Given the description of an element on the screen output the (x, y) to click on. 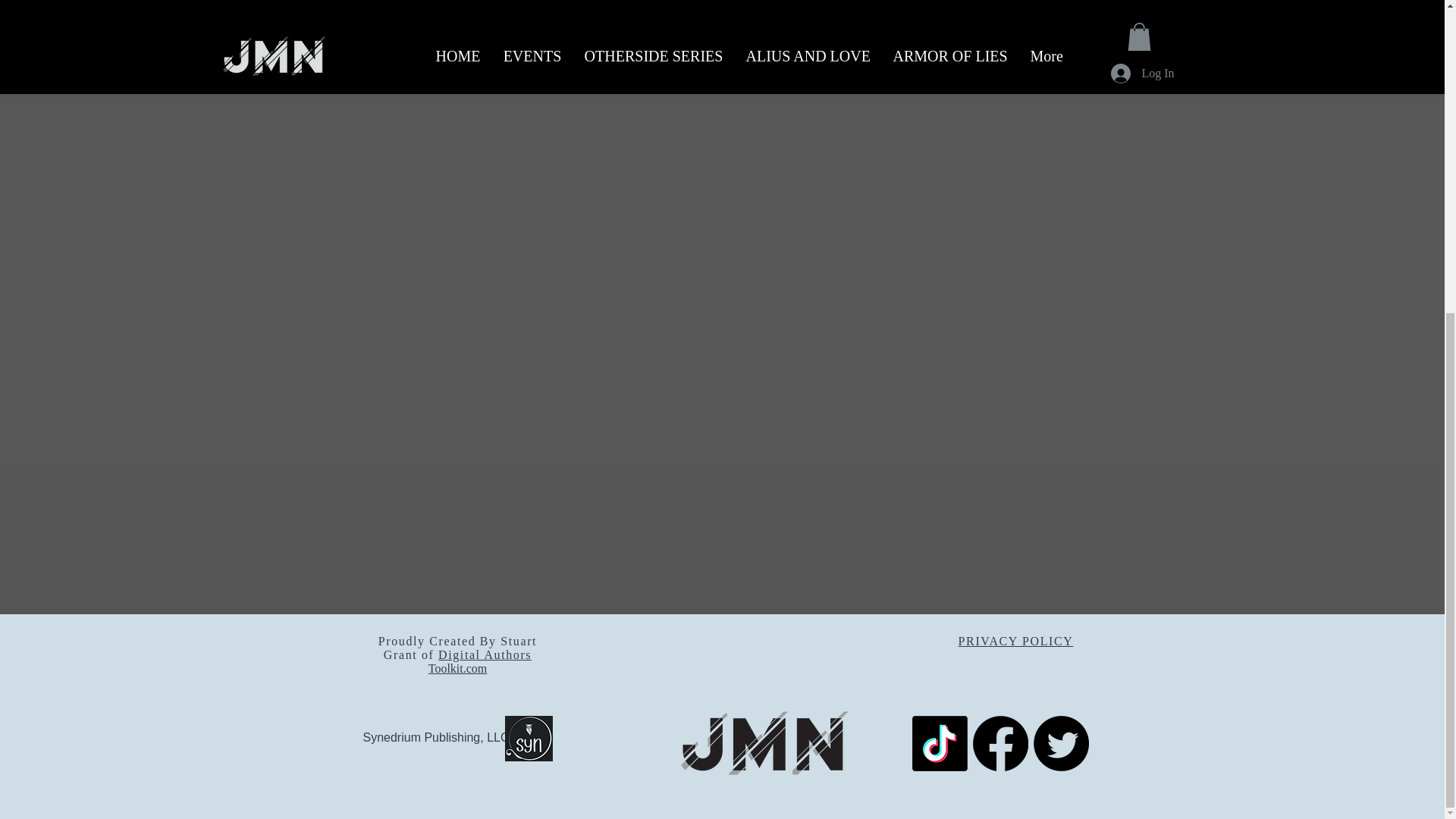
Color logo with background.png (529, 738)
PRIVACY POLICY (1016, 640)
Digital Authors Toolkit.com (479, 661)
